Given the description of an element on the screen output the (x, y) to click on. 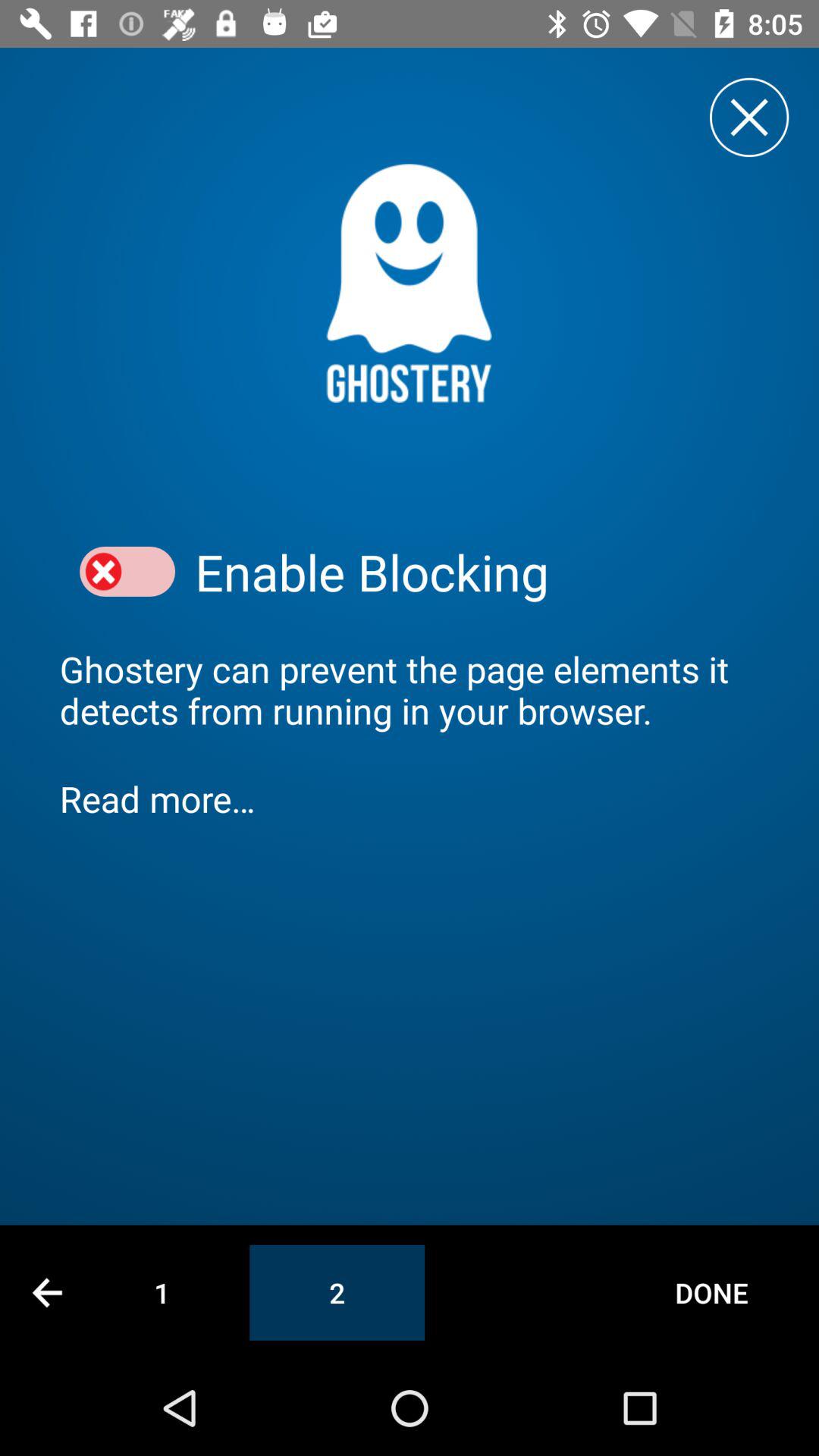
launch the icon to the left of the enable blocking item (127, 571)
